Given the description of an element on the screen output the (x, y) to click on. 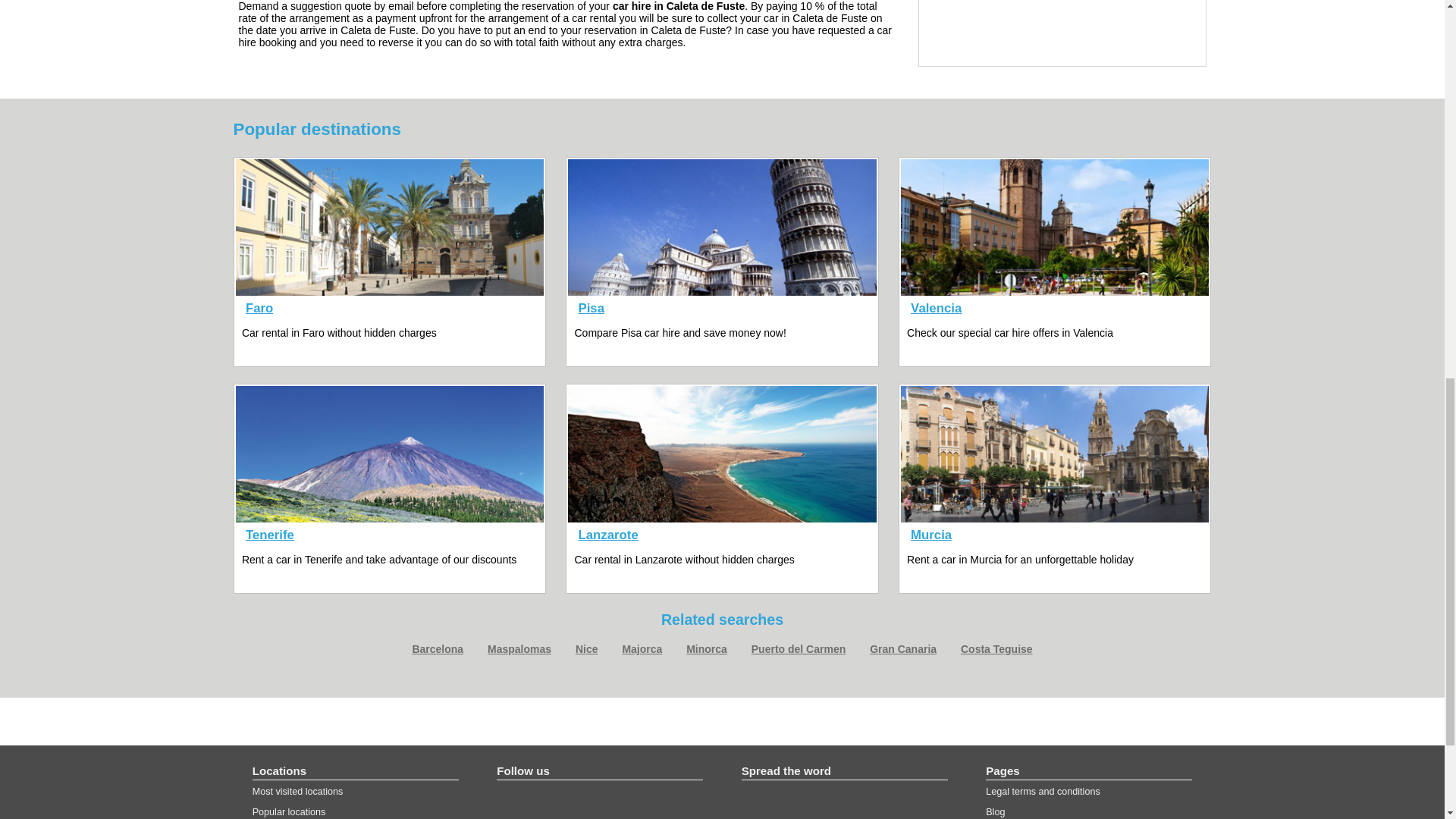
Pisa (591, 308)
Barcelona (437, 648)
Maspalomas (519, 648)
Faro (259, 308)
Majorca (641, 648)
Minorca (705, 648)
Puerto del Carmen (798, 648)
Lanzarote (608, 534)
Murcia (931, 534)
Nice (586, 648)
